Given the description of an element on the screen output the (x, y) to click on. 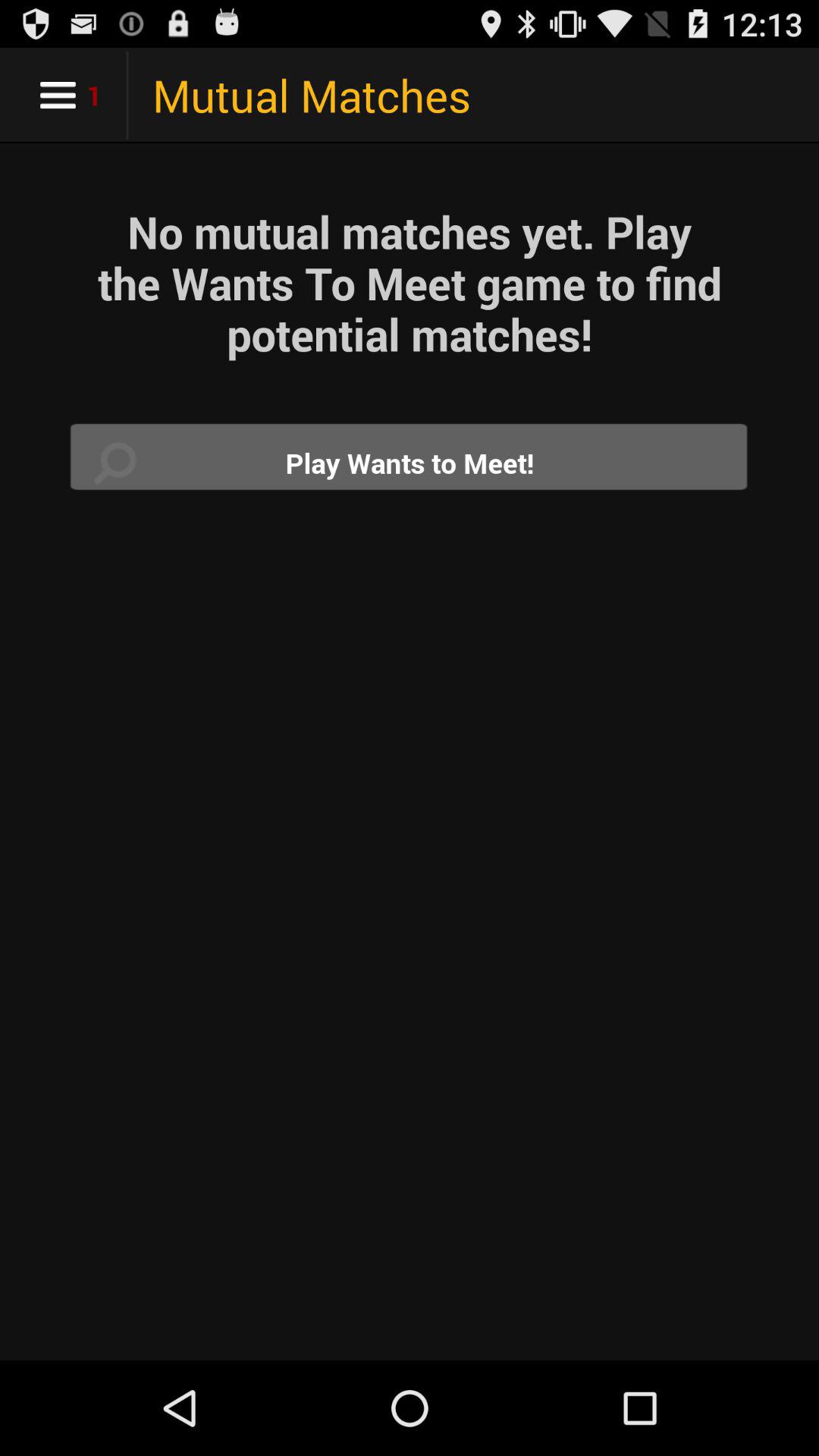
click to play (409, 462)
